Given the description of an element on the screen output the (x, y) to click on. 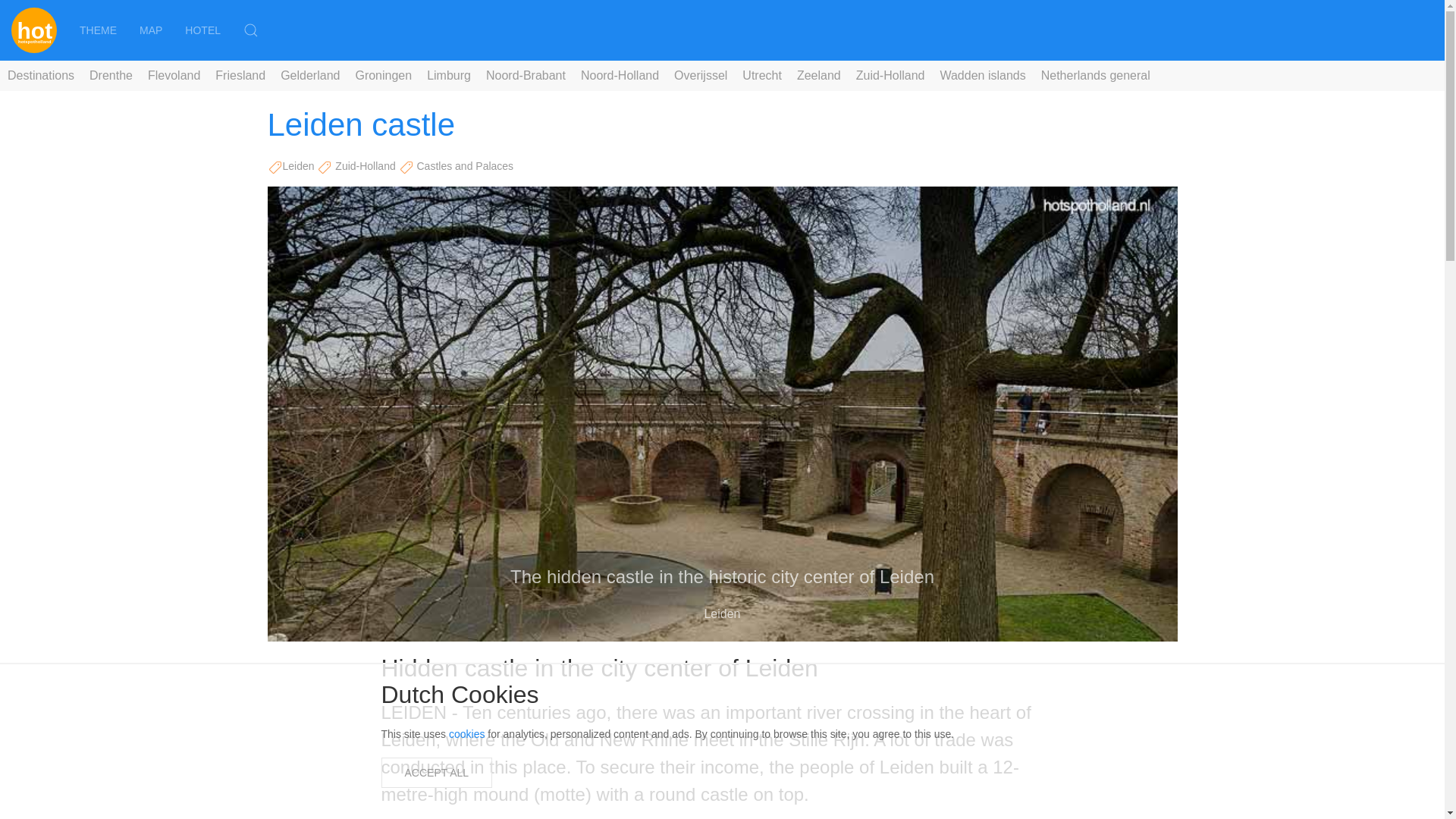
Leiden (298, 165)
Limburg (449, 75)
Gelderland (310, 75)
Zoek op onderwerp (98, 30)
Utrecht (762, 75)
Book a hotel (202, 30)
Wadden islands (981, 75)
Castles and Palaces (464, 165)
Overijssel (700, 75)
Zeeland (818, 75)
